Given the description of an element on the screen output the (x, y) to click on. 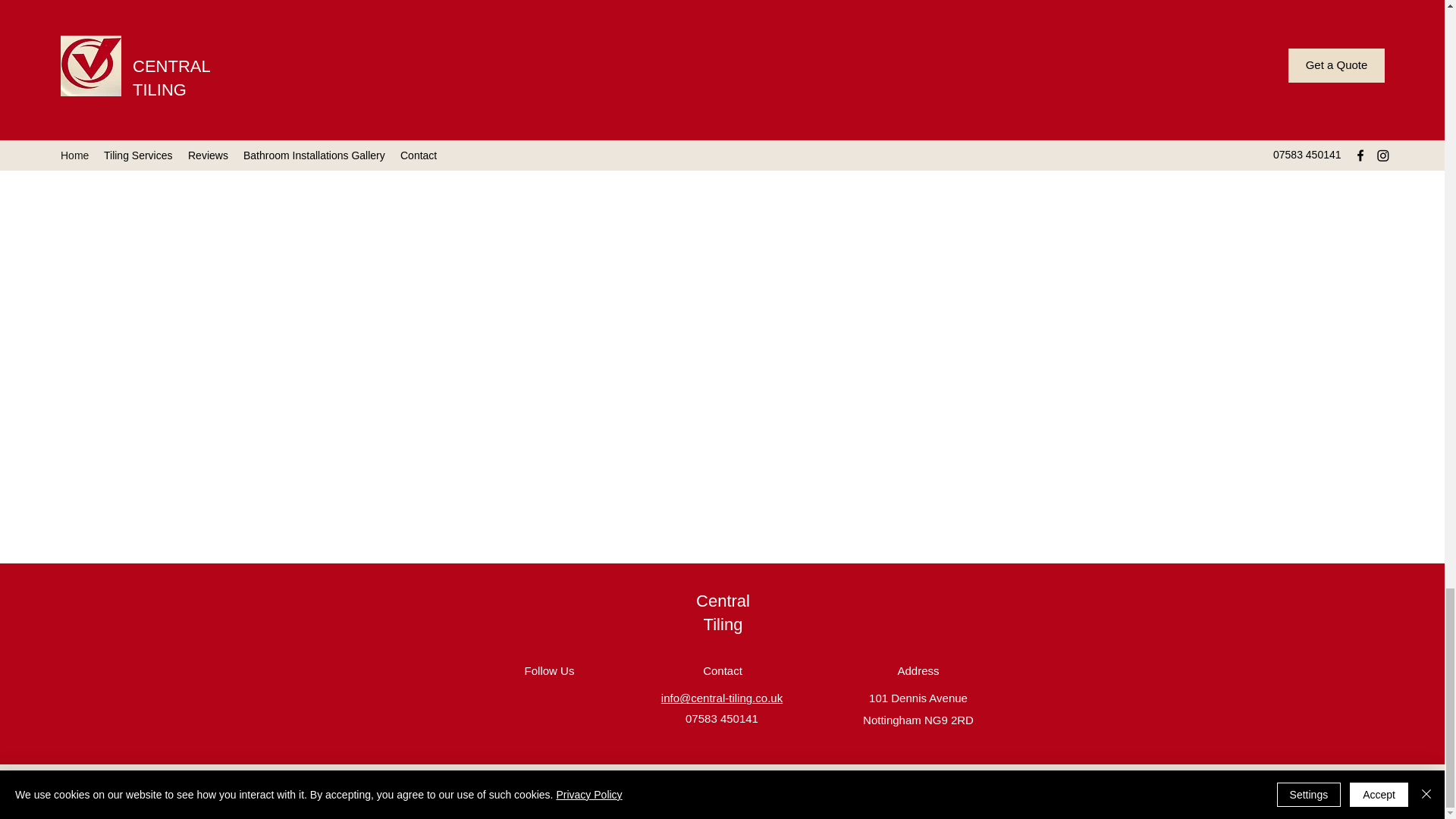
Trading Terms (593, 780)
Submit (721, 144)
Central Tiling (722, 612)
Terms of Use (399, 780)
